Given the description of an element on the screen output the (x, y) to click on. 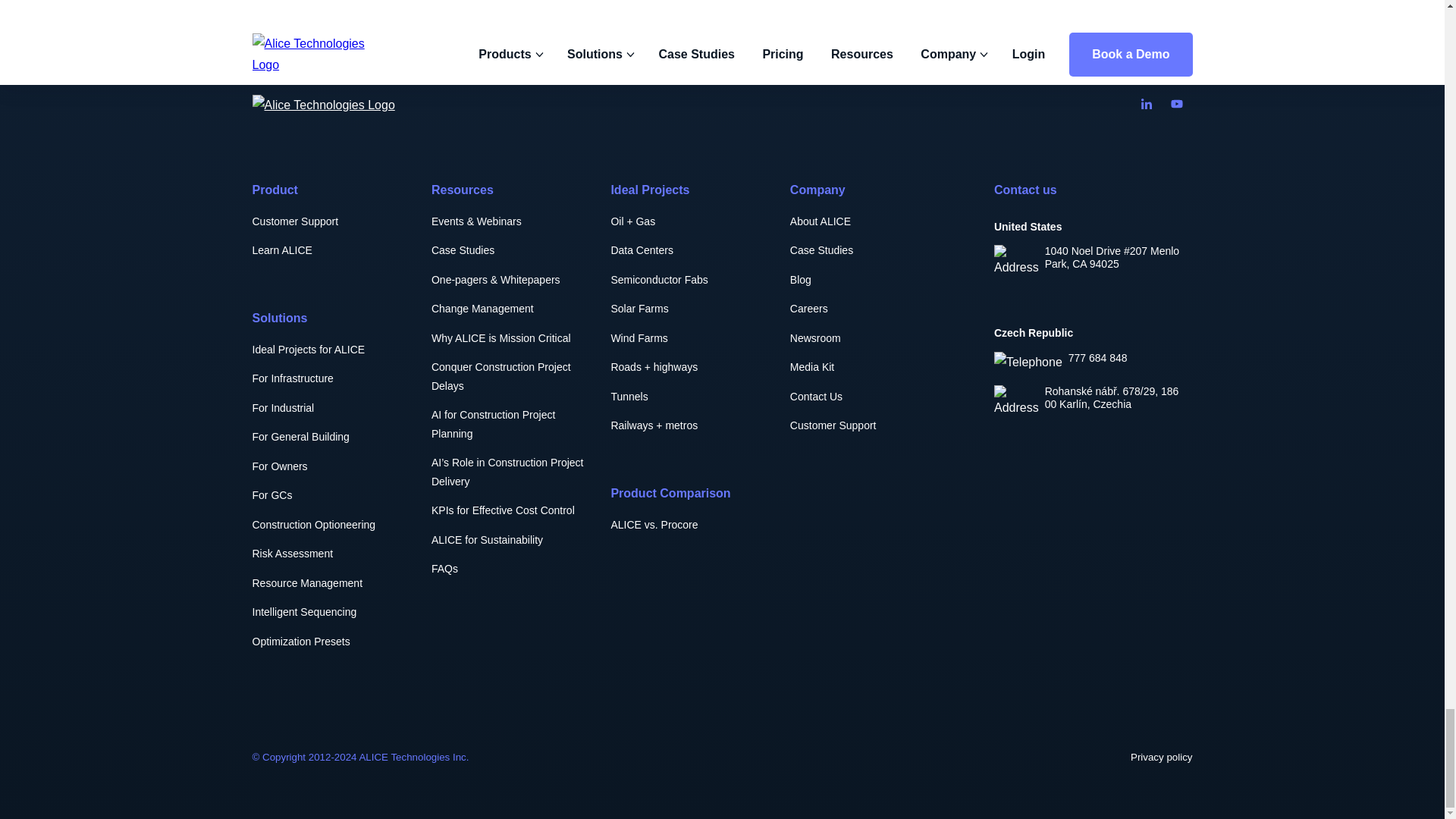
Alice Technologies Logo (322, 105)
